Given the description of an element on the screen output the (x, y) to click on. 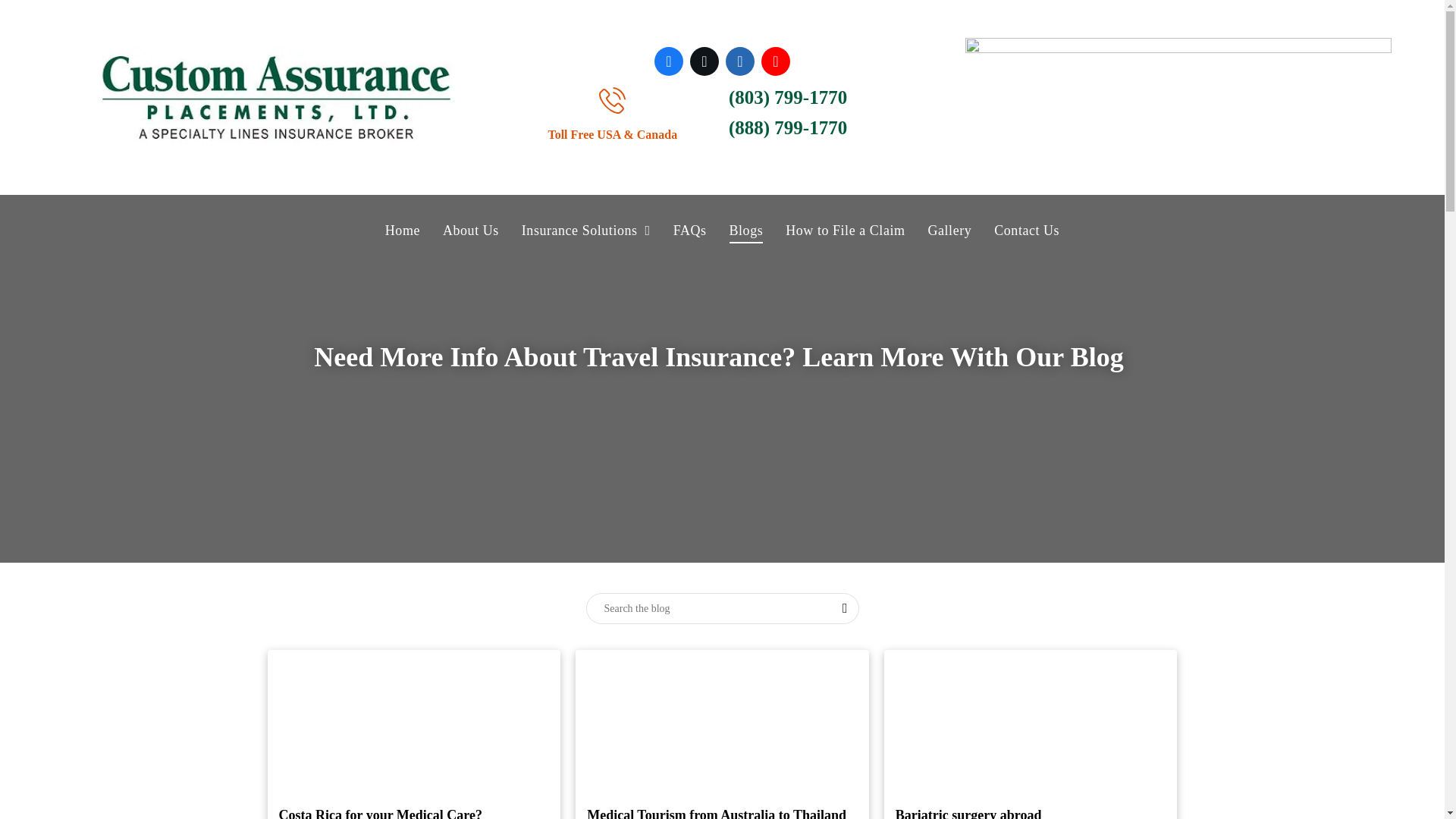
Blogs (745, 231)
Home (402, 231)
About Us (470, 231)
Custom Assurance Placements (275, 97)
How to File a Claim (844, 231)
FAQs (689, 231)
Insurance Solutions (586, 231)
